Given the description of an element on the screen output the (x, y) to click on. 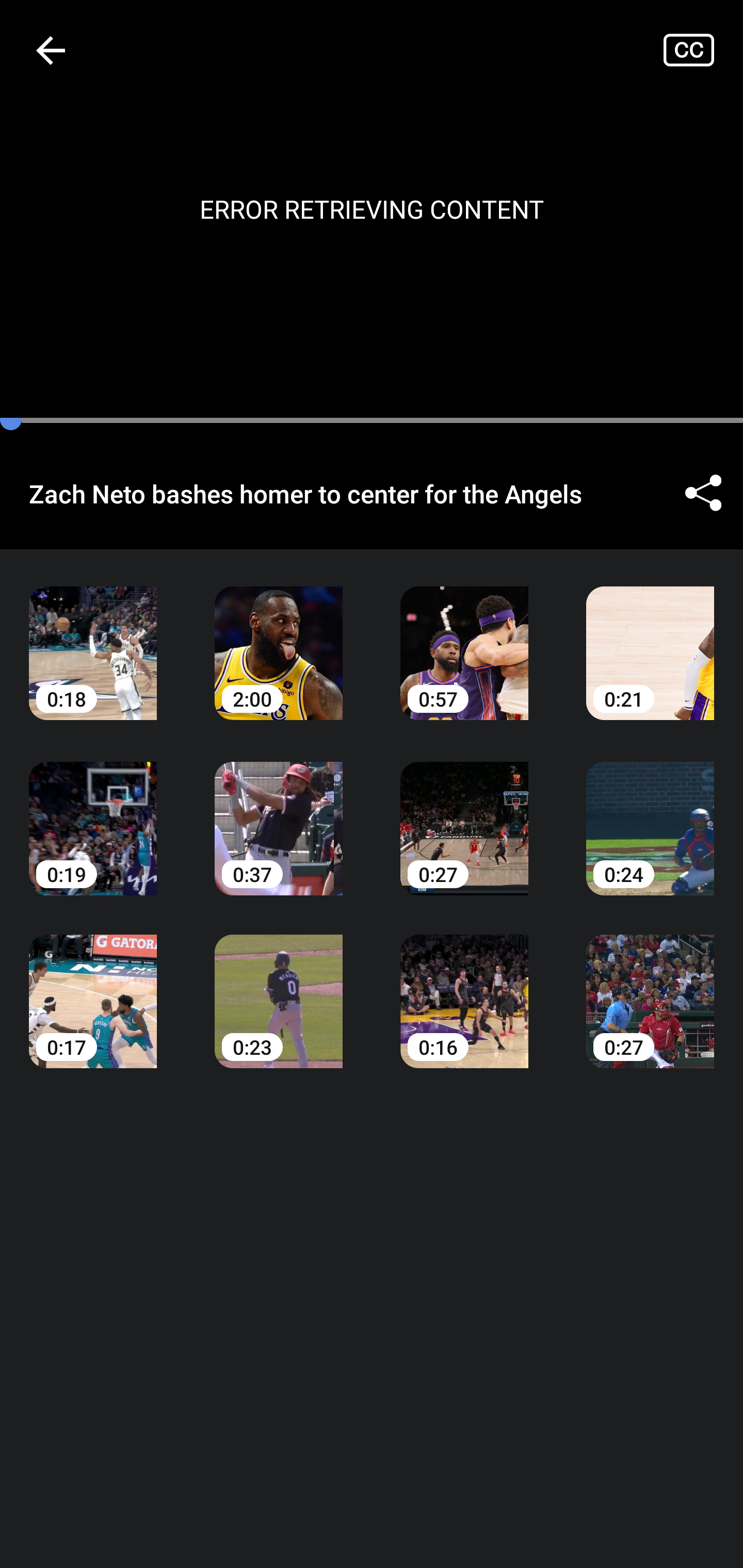
Navigate up (50, 50)
Closed captions  (703, 49)
Share © (703, 493)
0:18 (92, 637)
2:00 (278, 637)
0:57 (464, 637)
0:21 (650, 637)
0:19 (92, 813)
0:37 (278, 813)
0:27 (464, 813)
0:24 (650, 813)
0:17 (92, 987)
0:23 (278, 987)
0:16 (464, 987)
0:27 (650, 987)
